Given the description of an element on the screen output the (x, y) to click on. 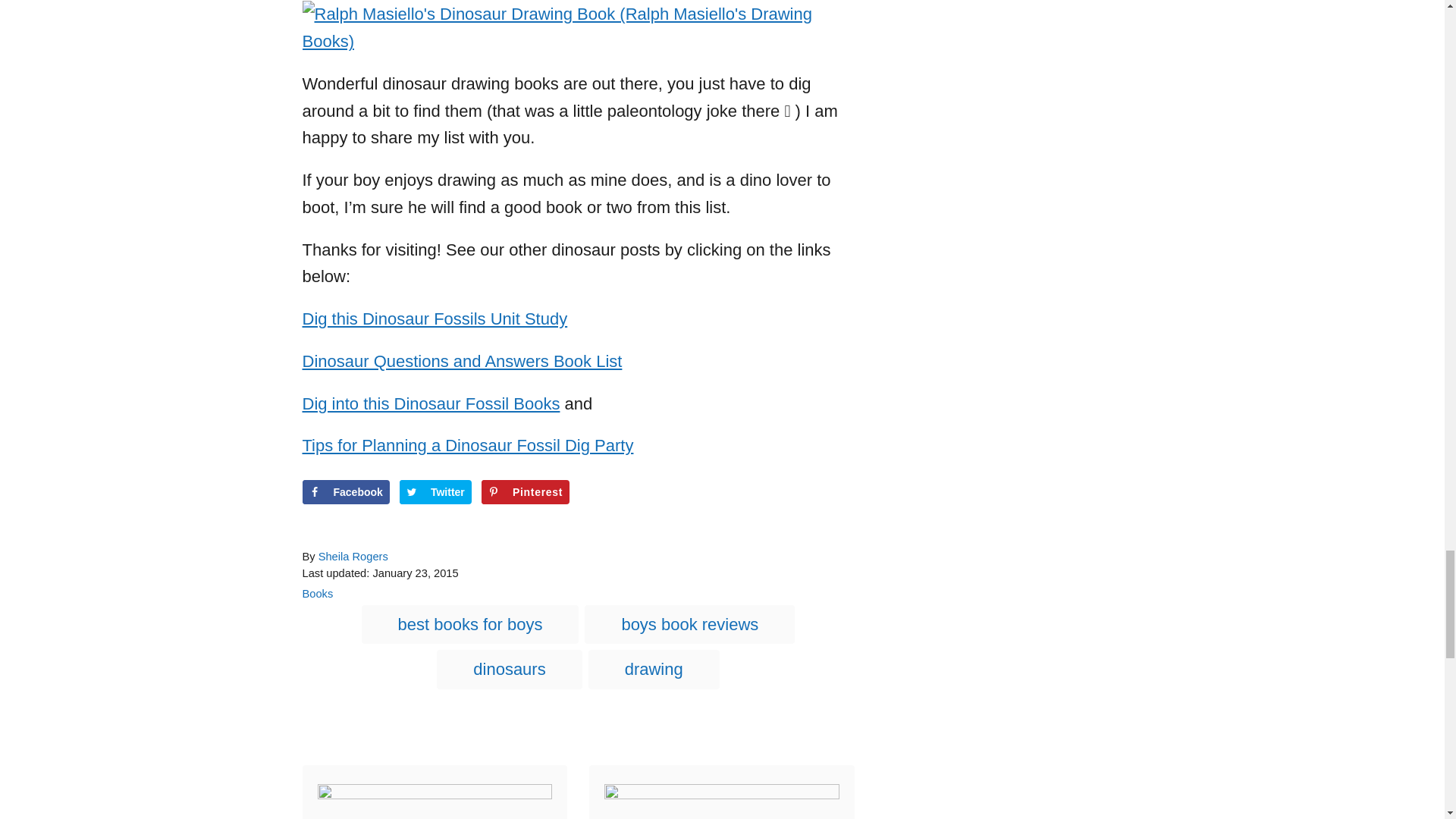
Facebook (344, 491)
Dinosaur Questions and Answers Book List (461, 361)
Tips for Planning a Dinosaur Fossil Dig Party (467, 445)
Dig into this Dinosaur Fossil Books (430, 403)
Dig this Dinosaur Fossils Unit Study (434, 318)
